Given the description of an element on the screen output the (x, y) to click on. 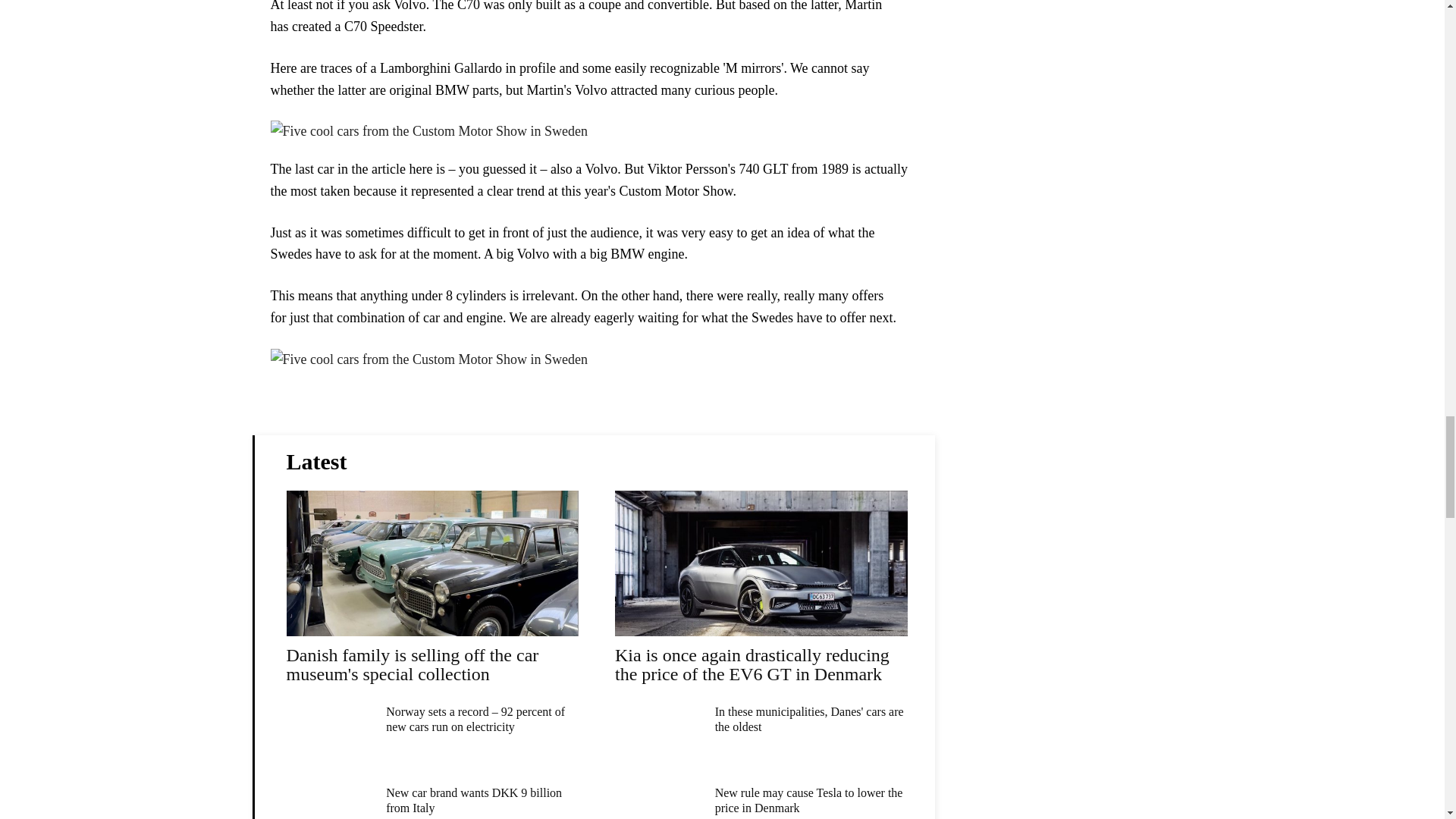
New car brand wants DKK 9 billion from Italy (473, 800)
In these municipalities, Danes' cars are the oldest (809, 719)
